Given the description of an element on the screen output the (x, y) to click on. 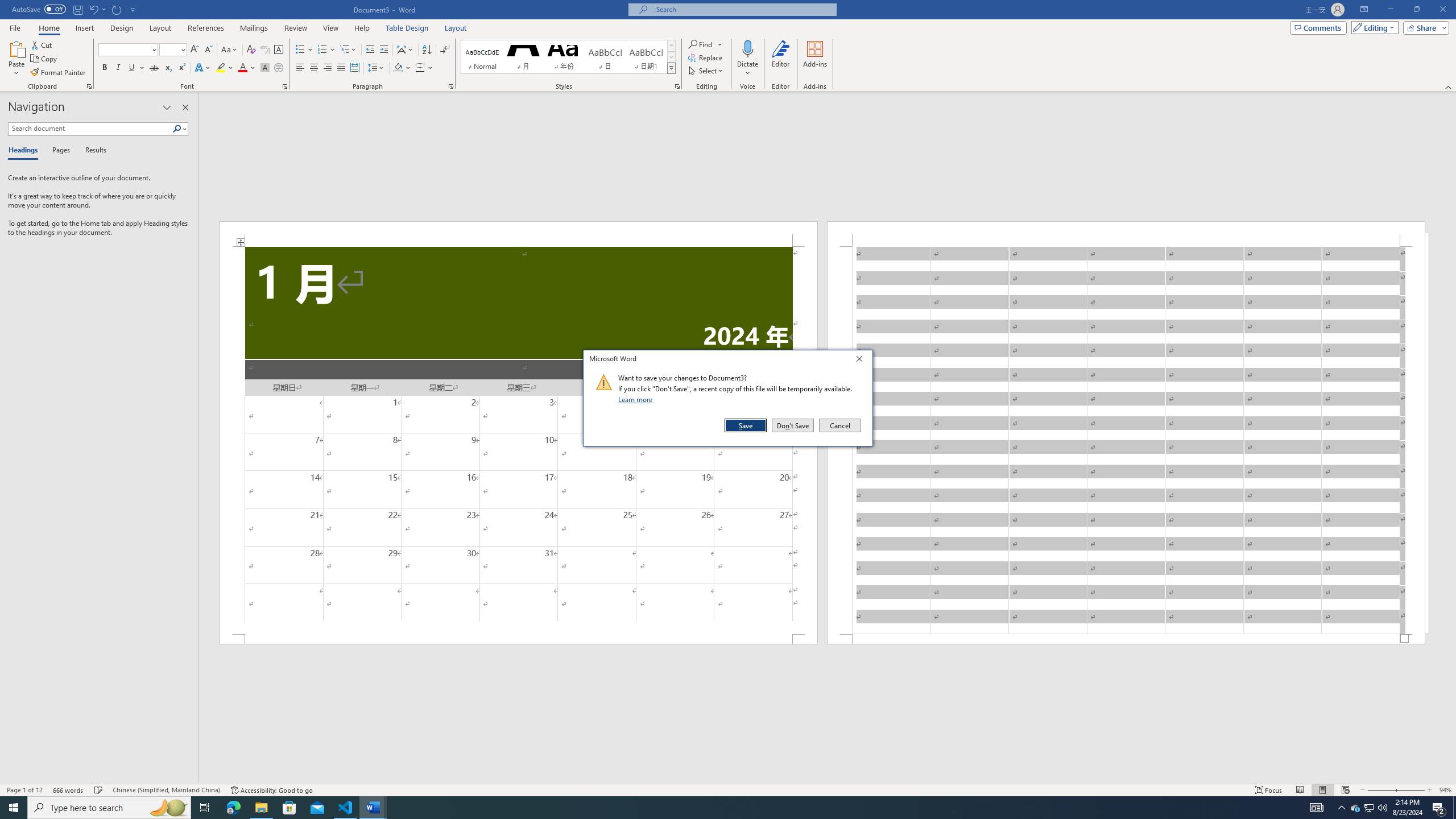
Select (705, 69)
Distributed (354, 67)
Q2790: 100% (1382, 807)
Enclose Characters... (278, 67)
Office Clipboard... (88, 85)
Cancel (839, 425)
Font Color RGB(255, 0, 0) (241, 67)
Search (179, 128)
Bullets (300, 49)
Class: MsoCommandBar (728, 789)
File Tab (15, 27)
Clear Formatting (250, 49)
Web Layout (1344, 790)
Font Size (172, 49)
